Given the description of an element on the screen output the (x, y) to click on. 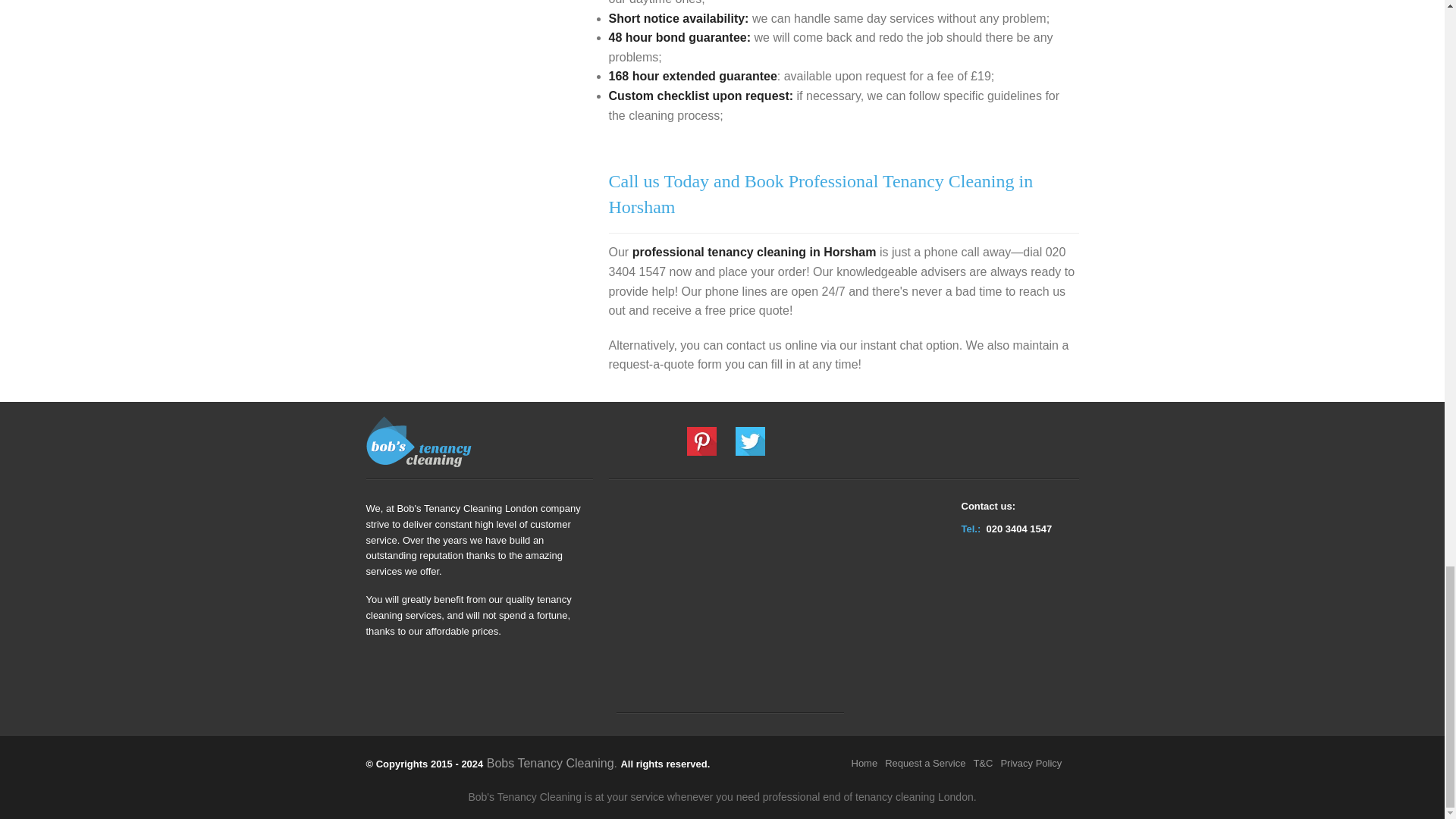
Home (867, 763)
020 3404 1547 (1018, 528)
Bobs Tenancy Cleaning (550, 762)
Request a Service (928, 763)
